Given the description of an element on the screen output the (x, y) to click on. 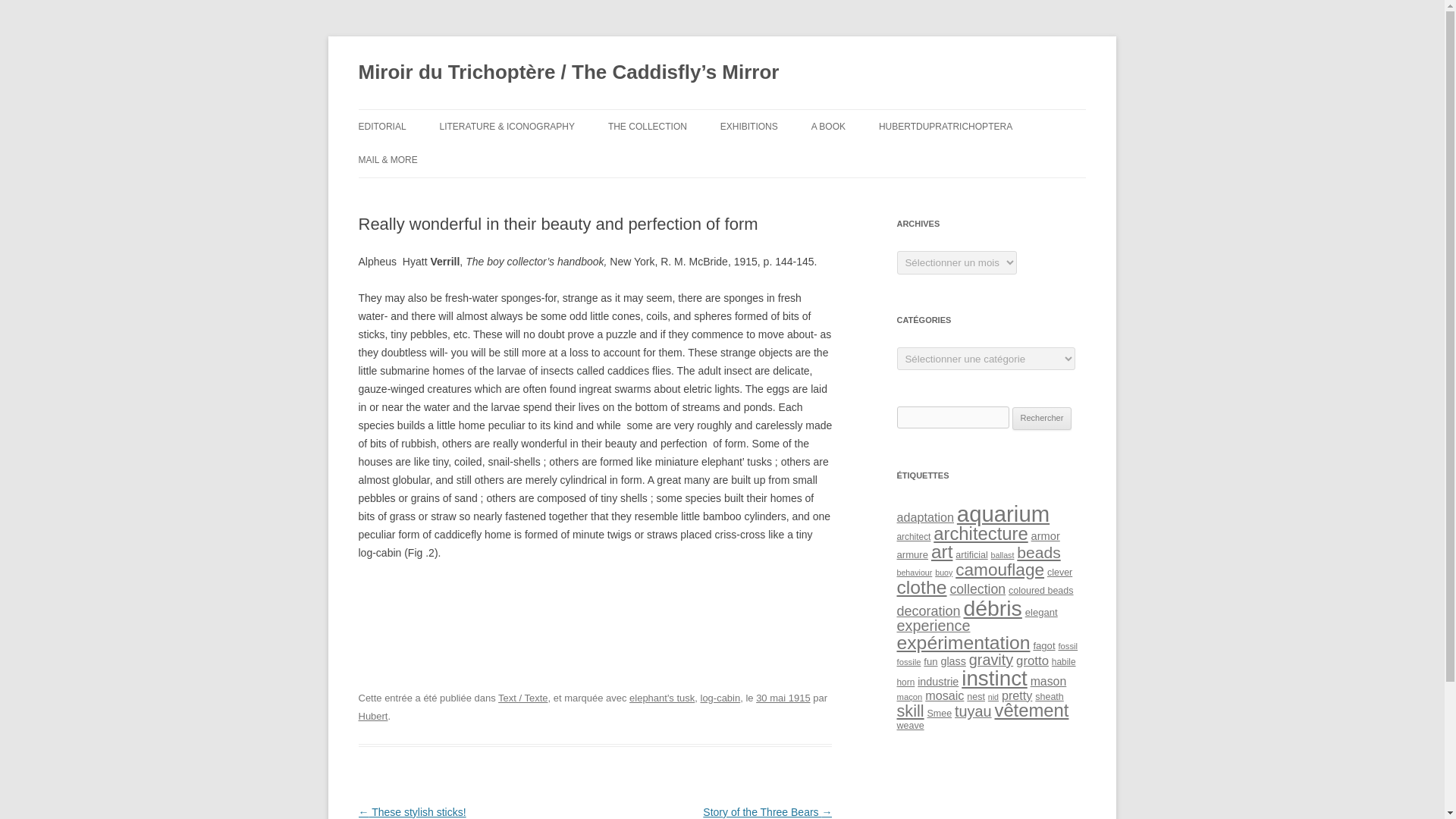
53 sujets (942, 551)
THE COLLECTION (647, 126)
18 sujets (913, 572)
41 sujets (1037, 552)
22 sujets (912, 554)
12 h 13 min (782, 697)
EDITORIAL (382, 126)
Rechercher (1041, 418)
28 sujets (924, 517)
18 sujets (1002, 554)
21 sujets (971, 554)
77 sujets (1002, 513)
Afficher tous les articles par Hubert (372, 715)
